Given the description of an element on the screen output the (x, y) to click on. 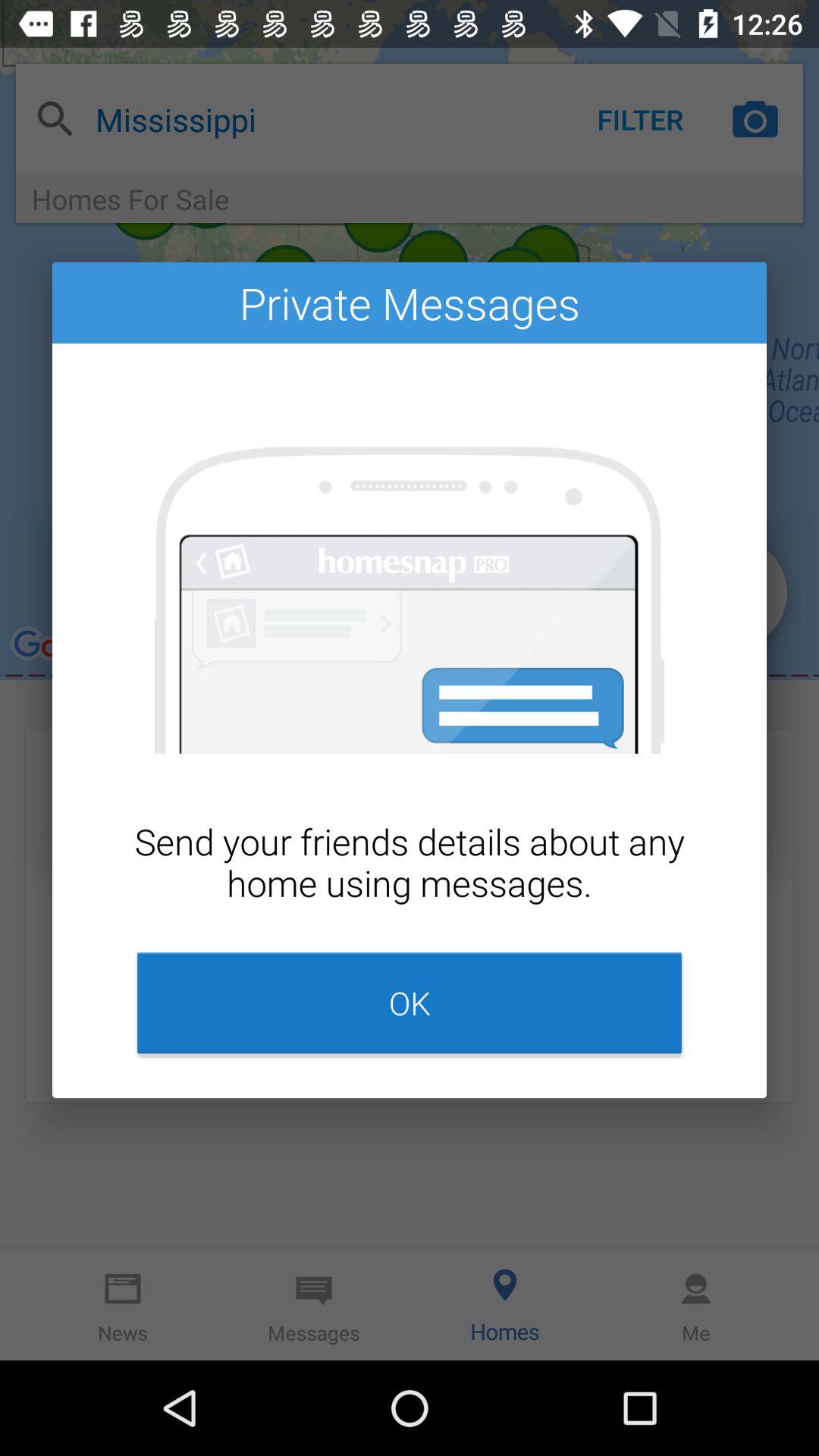
swipe to ok (409, 1002)
